Given the description of an element on the screen output the (x, y) to click on. 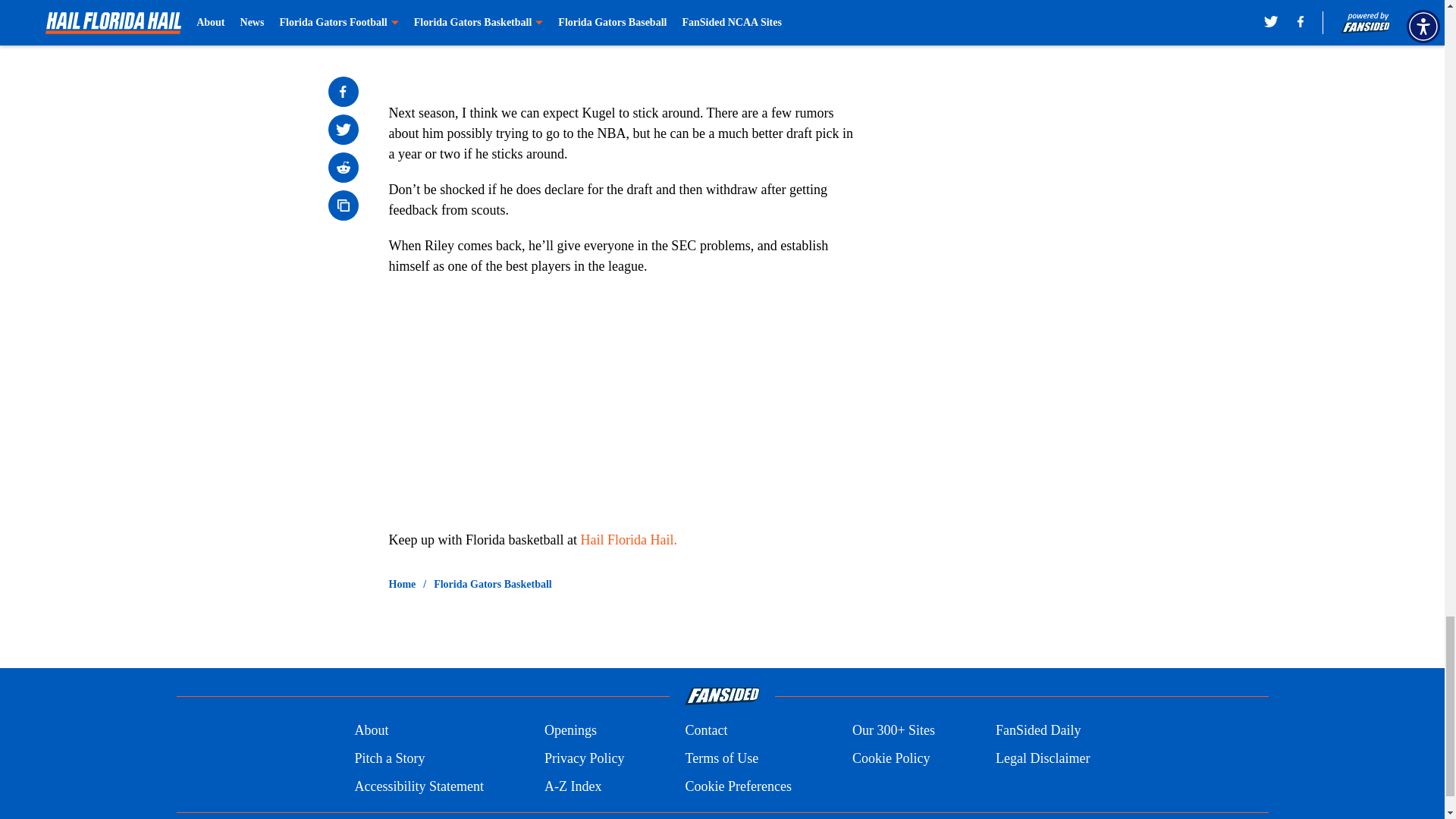
About (370, 730)
Home (401, 584)
Cookie Policy (890, 758)
Pitch a Story (389, 758)
Legal Disclaimer (1042, 758)
FanSided Daily (1038, 730)
Hail Florida Hail.  (629, 539)
Florida Gators Basketball (492, 584)
Openings (570, 730)
Contact (705, 730)
